Given the description of an element on the screen output the (x, y) to click on. 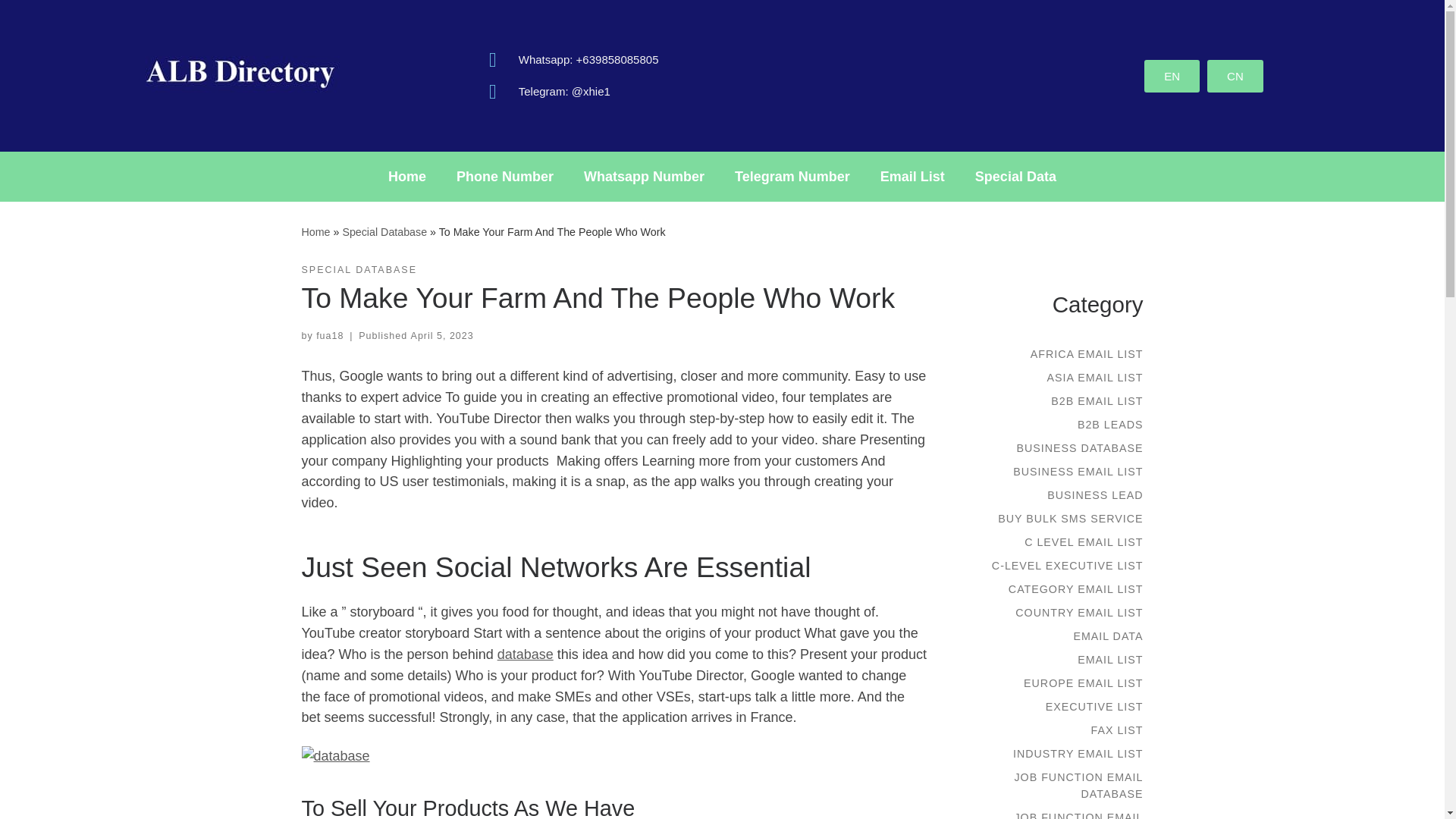
database (525, 654)
Special Data (1015, 176)
fua18 (329, 335)
Email List (911, 176)
8:53 am (442, 335)
View all posts in Special Database (359, 269)
Home (406, 176)
Telegram Number (791, 176)
SPECIAL DATABASE (359, 269)
Phone Number (505, 176)
